Given the description of an element on the screen output the (x, y) to click on. 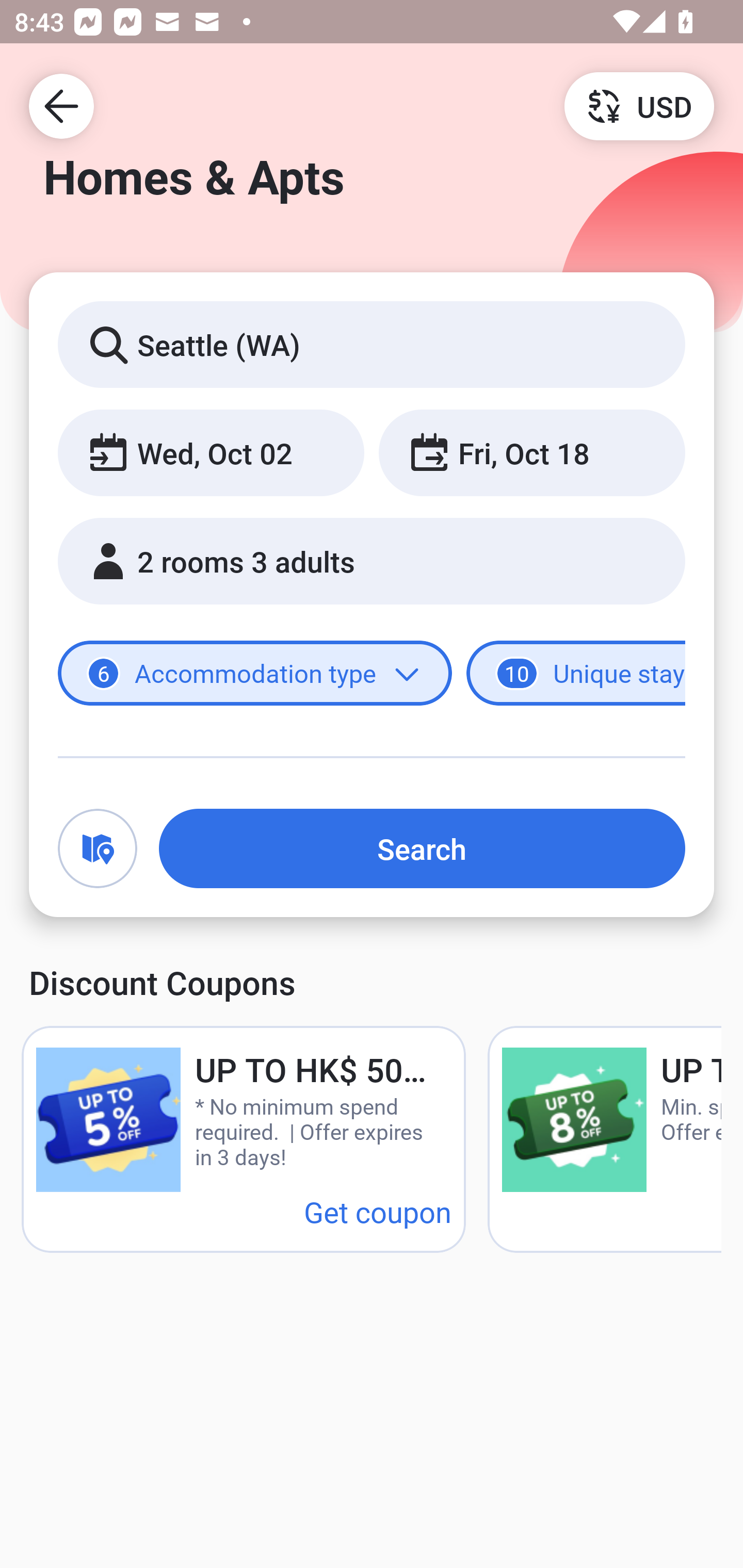
USD (639, 105)
Seattle (WA) (371, 344)
Wed, Oct 02 (210, 452)
Fri, Oct 18 (531, 452)
2 rooms 3 adults (371, 561)
6 Accommodation type (254, 673)
10 Unique stays (575, 673)
Search (422, 848)
Get coupon (377, 1211)
